Given the description of an element on the screen output the (x, y) to click on. 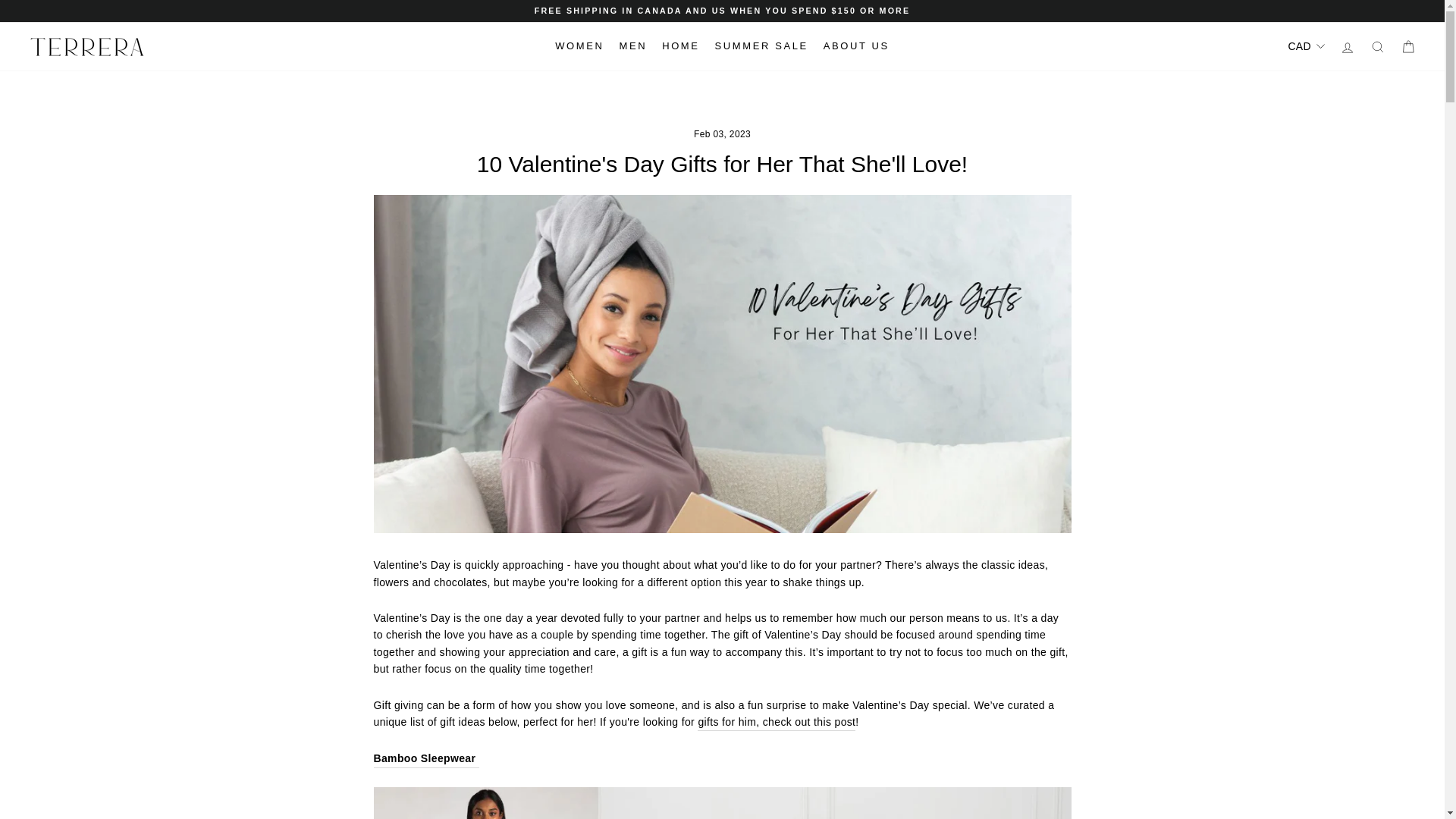
Women's bamboo sleepwear (425, 758)
